Given the description of an element on the screen output the (x, y) to click on. 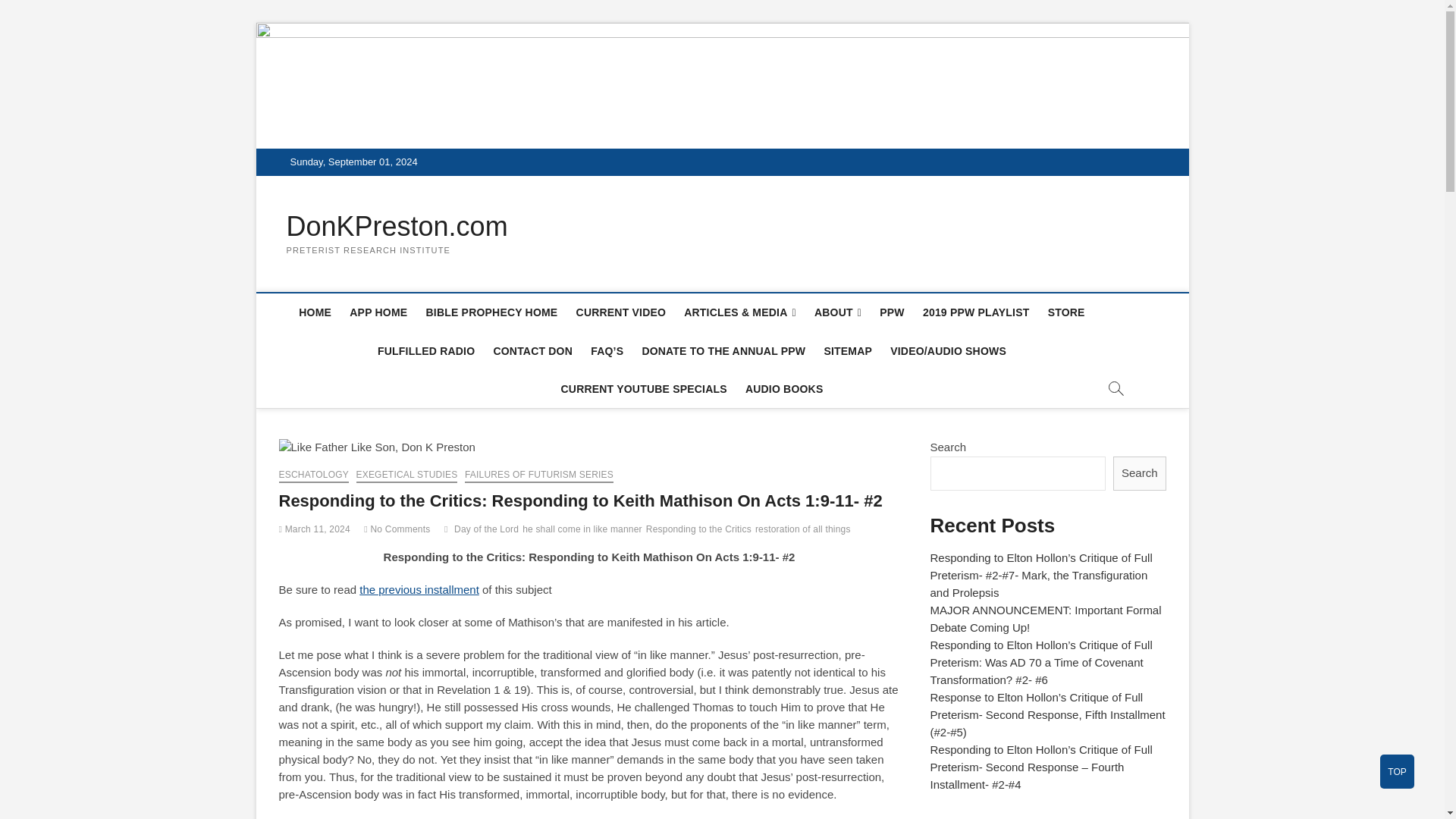
he shall come in like manner (584, 531)
STORE (1067, 312)
ESCHATOLOGY (314, 476)
CONTACT DON (531, 351)
HOME (315, 312)
SITEMAP (847, 351)
Responding to the Critics (700, 531)
DONATE TO THE ANNUAL PPW (722, 351)
DonKPreston.com (397, 226)
